Given the description of an element on the screen output the (x, y) to click on. 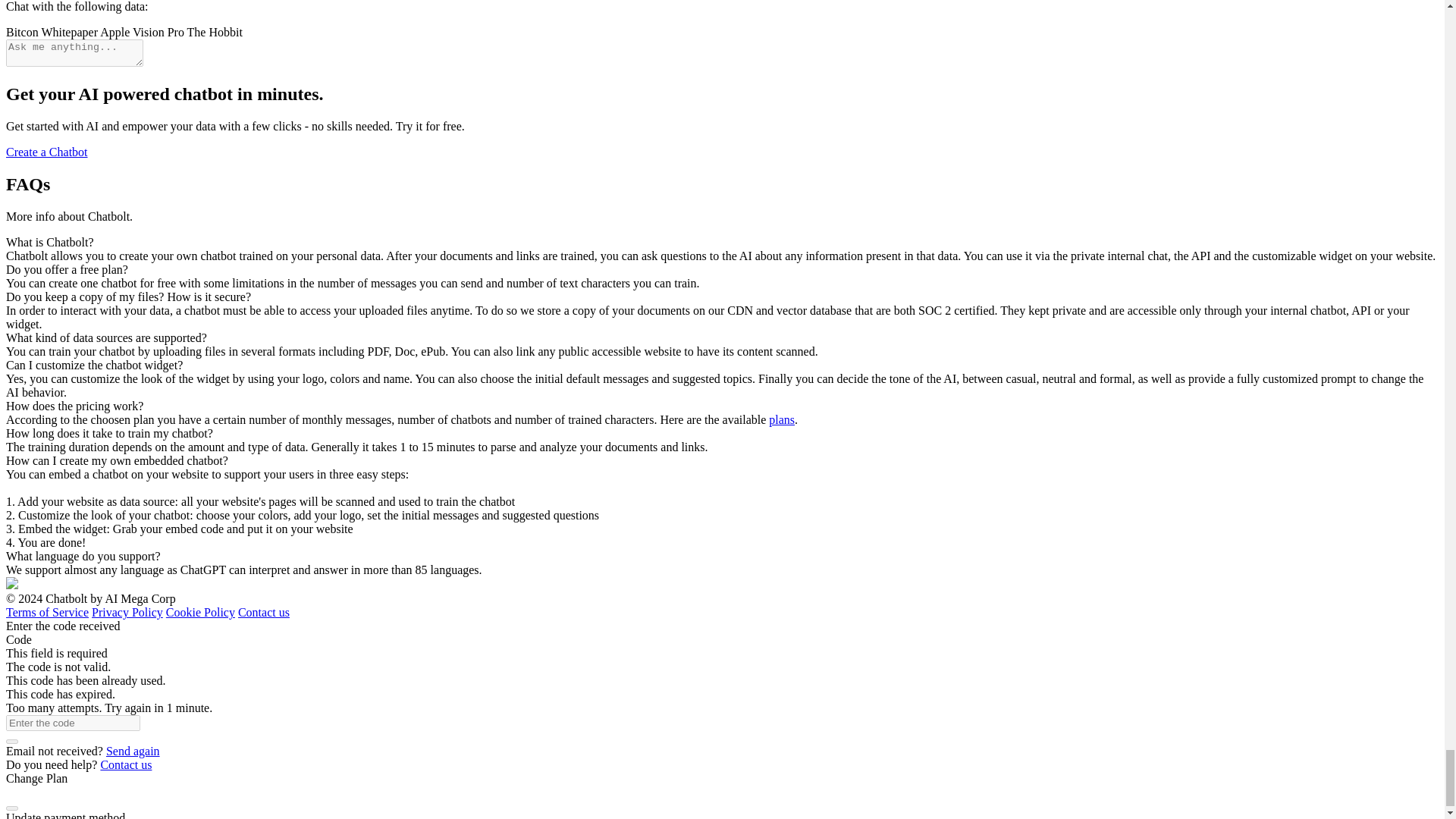
Cookie Policy (199, 612)
Terms of Service (46, 612)
Create a Chatbot (46, 151)
The Hobbit (215, 31)
Contact us (263, 612)
Apple Vision Pro (142, 31)
Send again (133, 750)
plans (781, 419)
Privacy Policy (127, 612)
Contact us (125, 764)
